Given the description of an element on the screen output the (x, y) to click on. 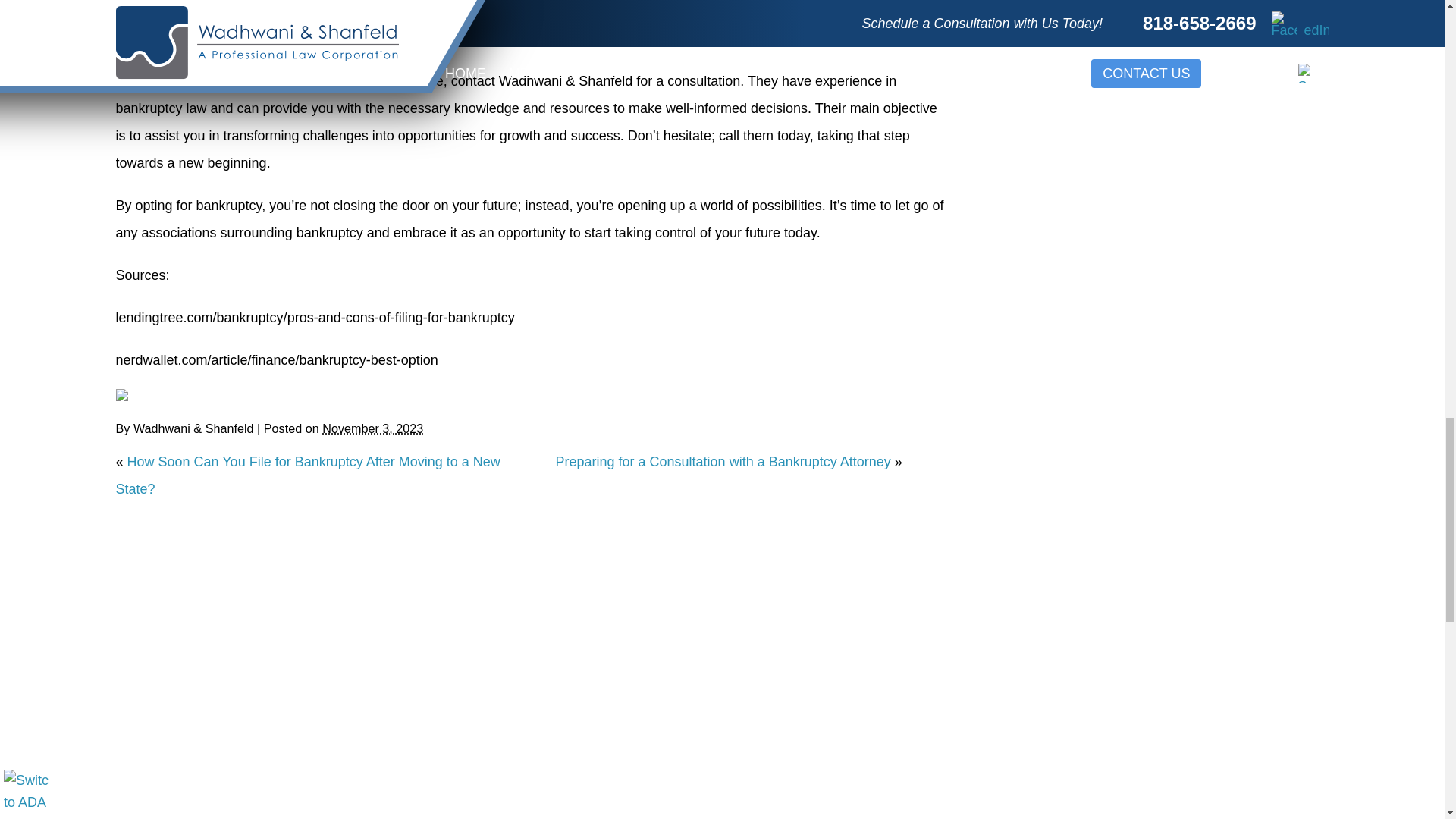
2023-11-03T03:00:14-0700 (372, 427)
Facebook (121, 395)
Twitter (131, 395)
LinkedIn (142, 395)
